Given the description of an element on the screen output the (x, y) to click on. 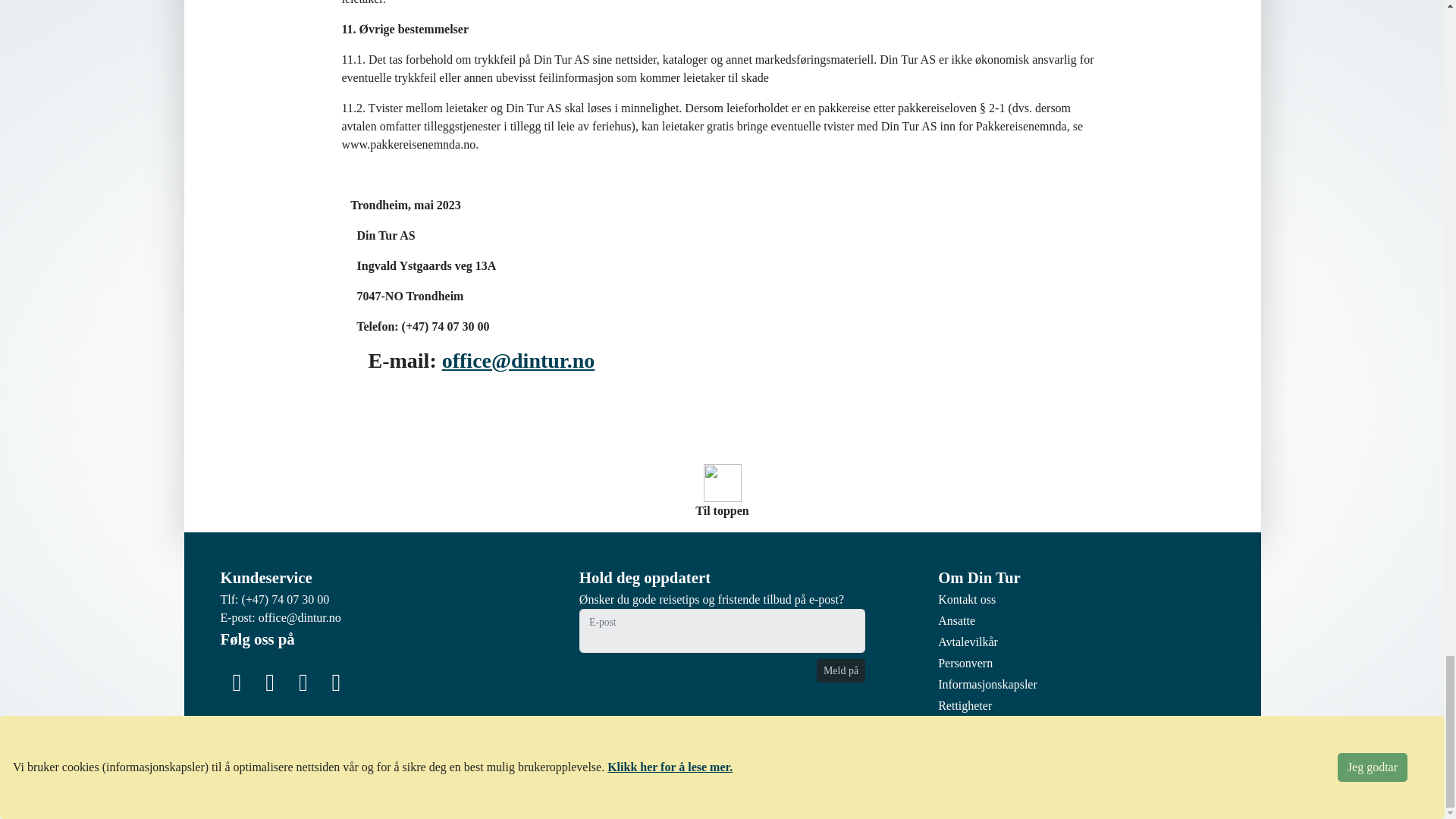
Informasjonskapsler (986, 684)
Til toppen (721, 492)
Be om innsyn i aktsomhetsvurdering (1026, 726)
Rettigheter (964, 705)
Ansatte (956, 620)
Kontakt oss (966, 599)
Personvern (964, 662)
